Given the description of an element on the screen output the (x, y) to click on. 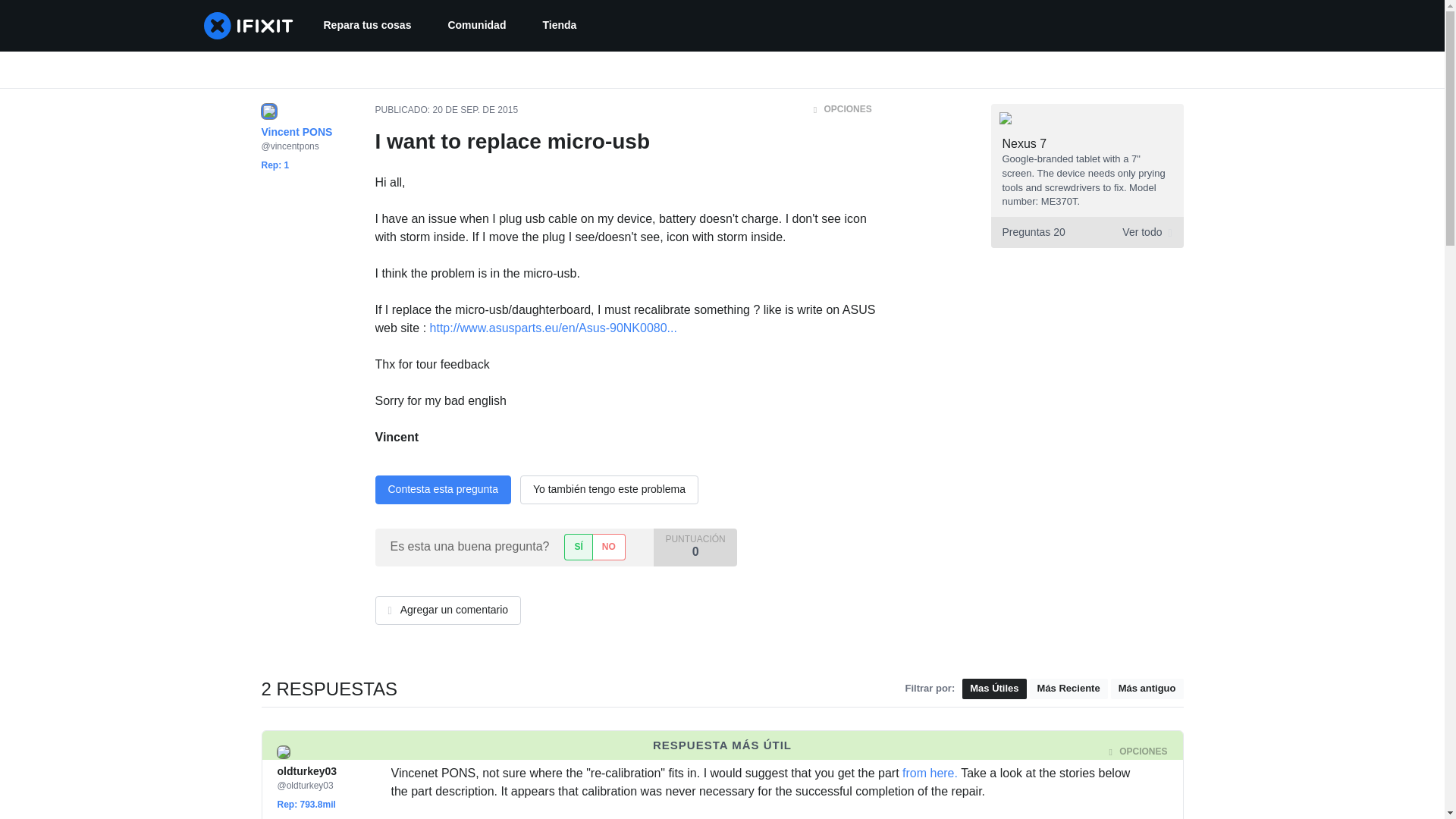
Sun, 20 Sep 2015 12:30:27 -0700 (491, 751)
Tienda (559, 25)
PUBLICADO: 20 DE SEP. DE 2015 (462, 751)
PUBLICADO: 20 DE SEP. DE 2015 (446, 109)
2406 insignias de Oro (1086, 232)
Contesta esta pregunta (353, 818)
902 insignias de Plata (442, 489)
1.1mil 902 2.4mil (326, 818)
Repara tus cosas (323, 818)
